Given the description of an element on the screen output the (x, y) to click on. 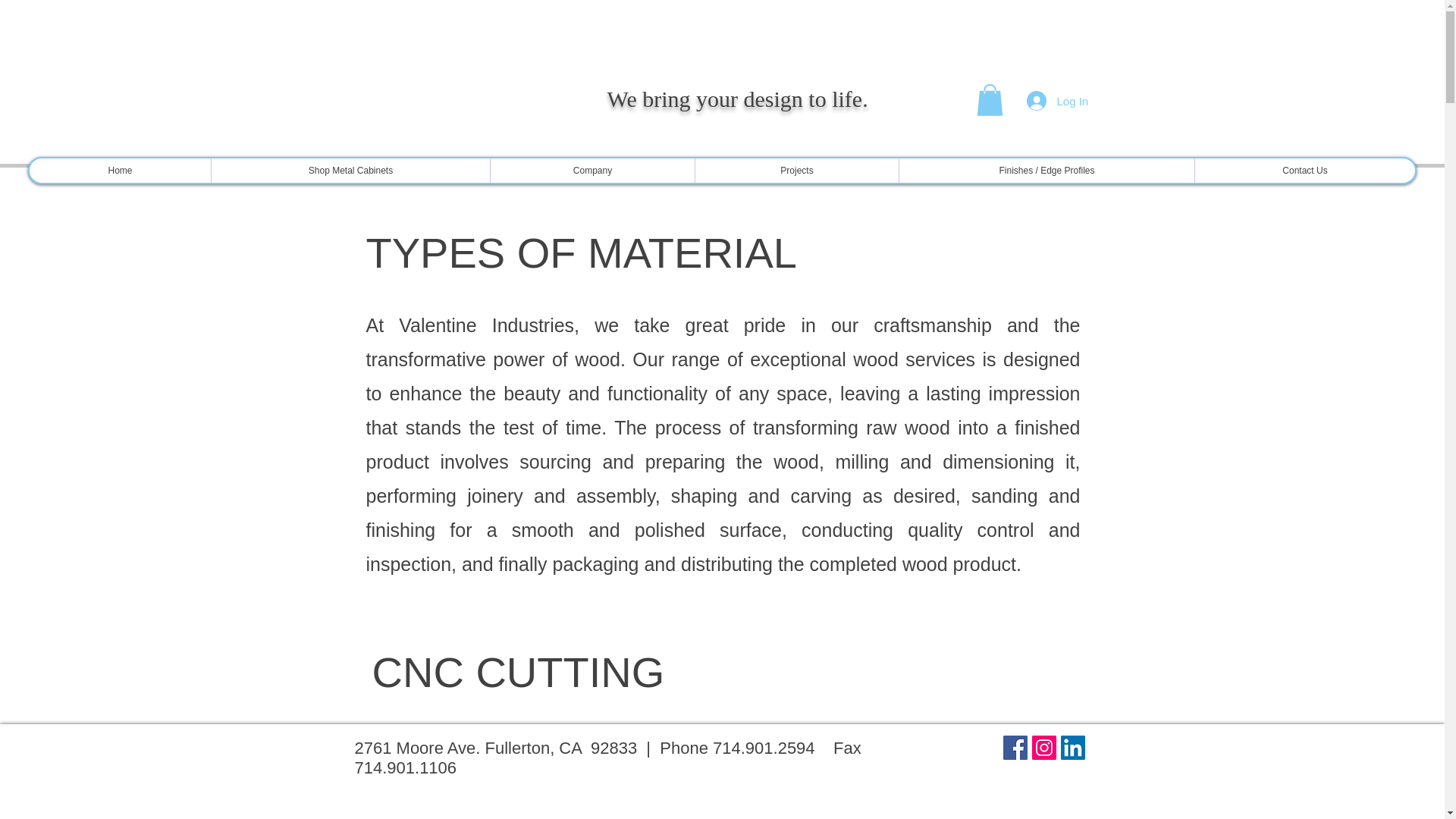
Company (591, 170)
Home (120, 170)
Contact Us (1304, 170)
Log In (1048, 100)
Shop Metal Cabinets (350, 170)
Projects (796, 170)
